Given the description of an element on the screen output the (x, y) to click on. 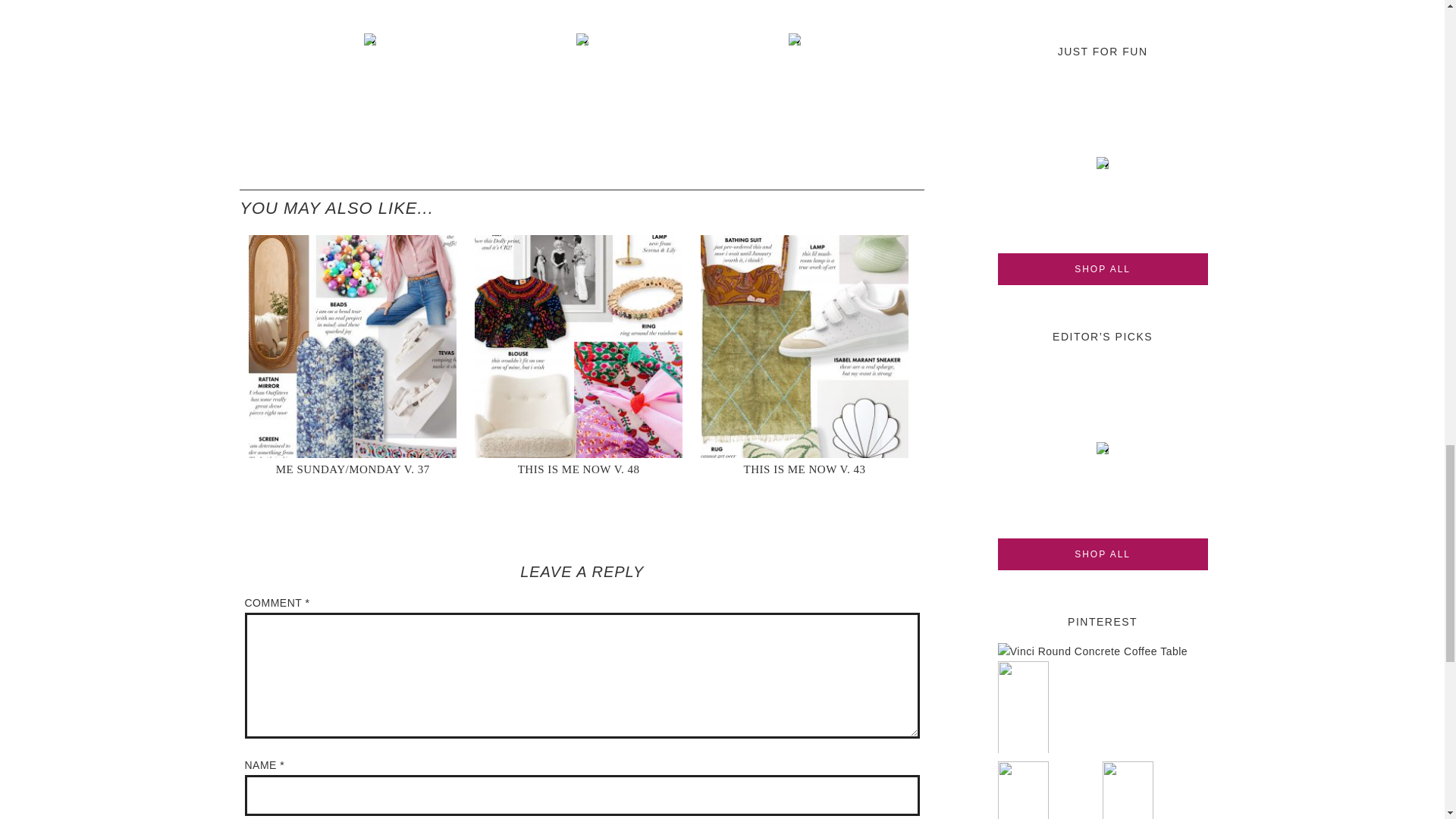
Vinci Round Concrete Coffee Table (1094, 653)
Permanent Link toTHIS IS ME NOW V. 48 (577, 353)
Permanent Link toTHIS IS ME NOW V. 43 (804, 353)
